Given the description of an element on the screen output the (x, y) to click on. 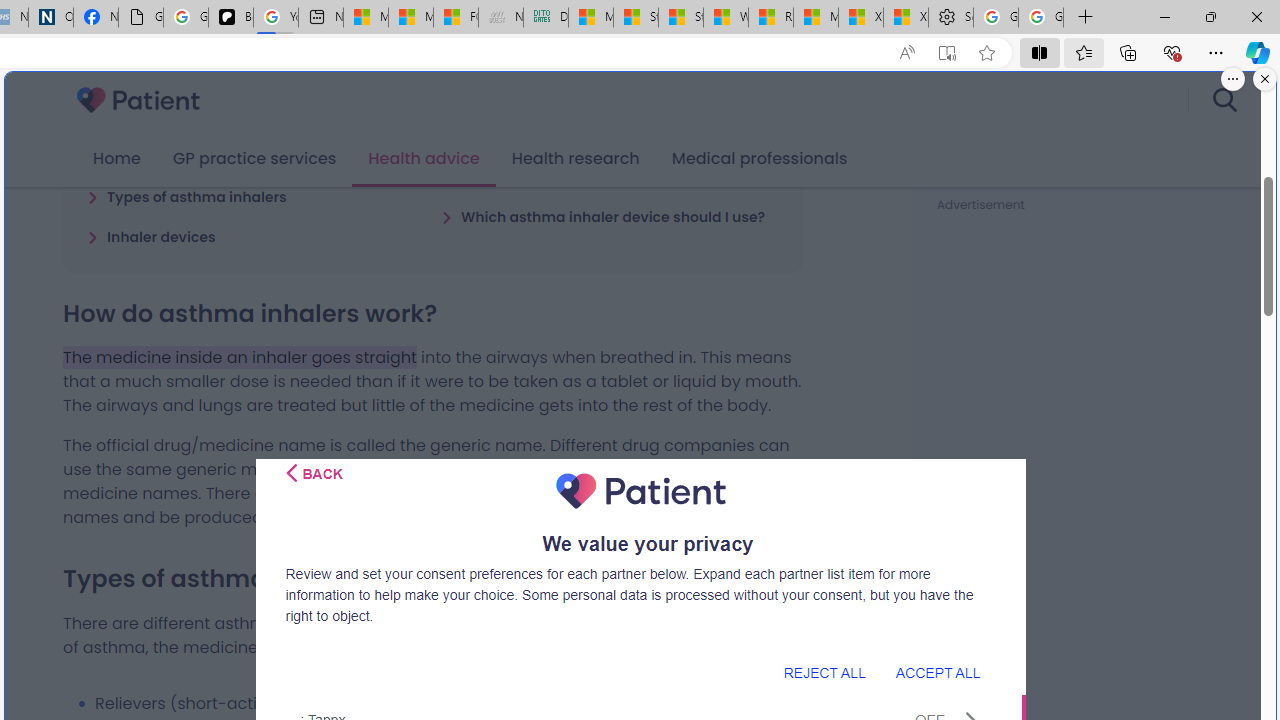
Inhaler devices (151, 236)
ACCEPT ALL (937, 672)
FOX News - MSN (455, 17)
GP practice services (254, 159)
Class: css-i5klq5 (291, 473)
More options. (1233, 79)
Health research (575, 159)
Types of asthma inhalers (186, 196)
Health advice (424, 159)
